Given the description of an element on the screen output the (x, y) to click on. 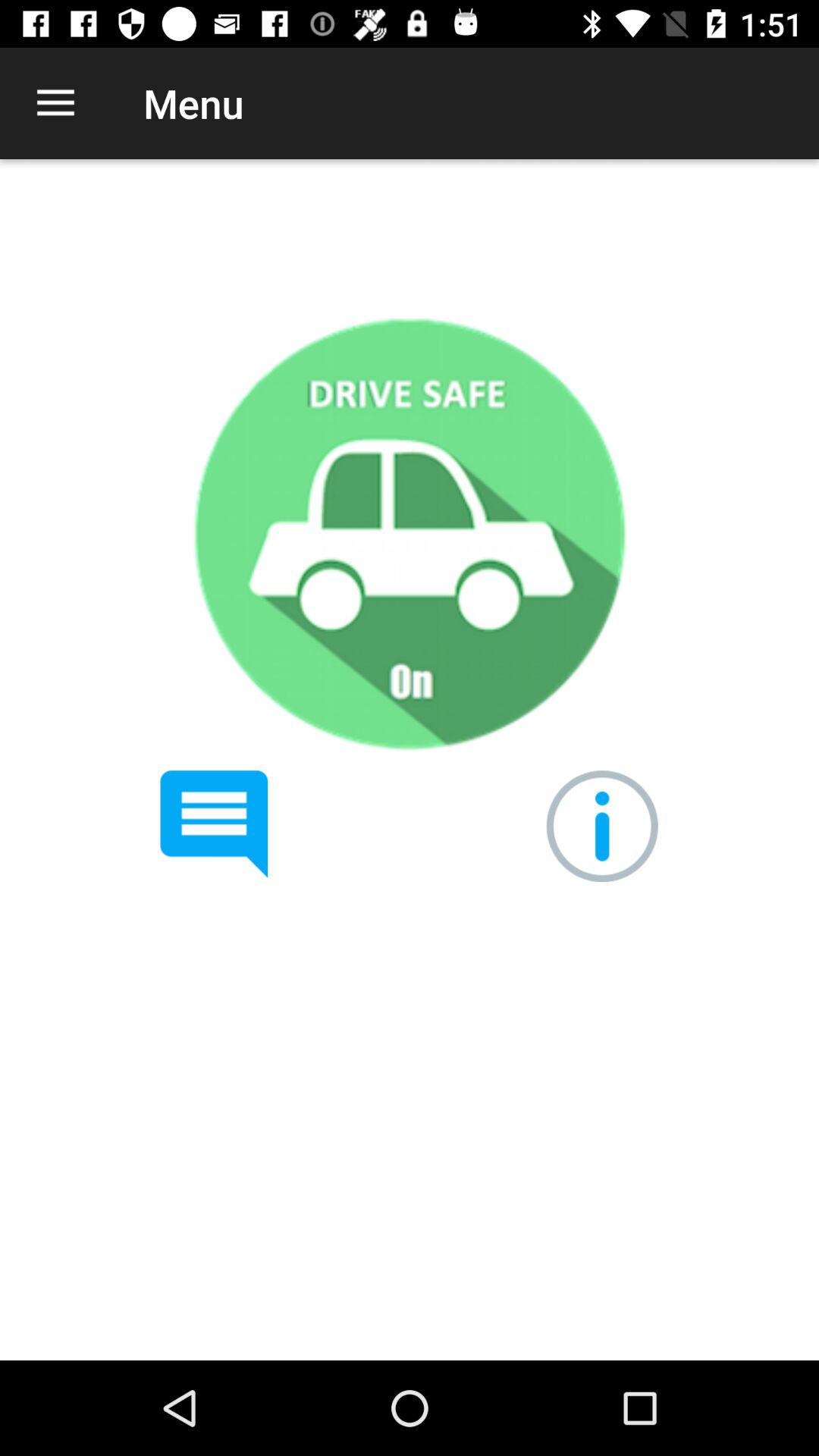
read test messaging (213, 824)
